Given the description of an element on the screen output the (x, y) to click on. 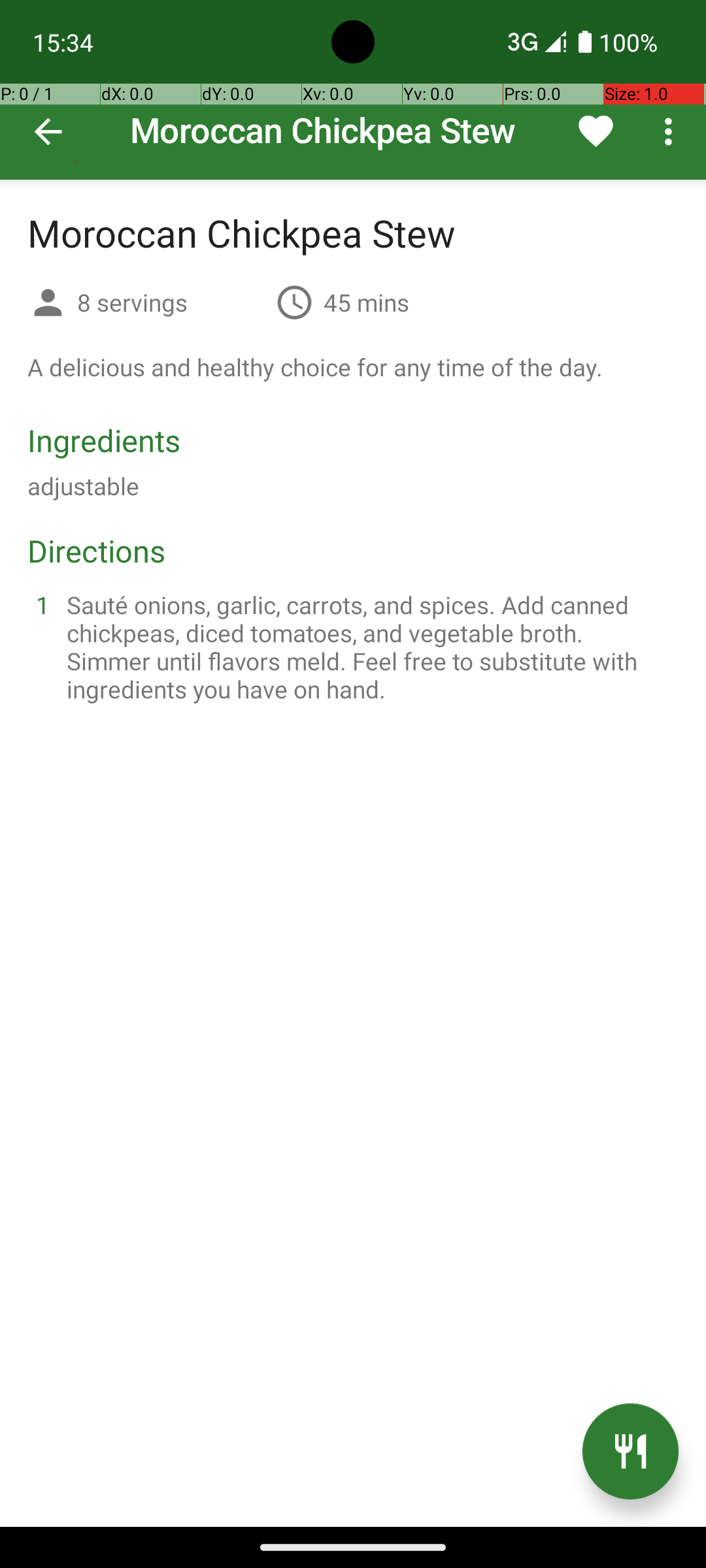
Moroccan Chickpea Stew Element type: android.widget.FrameLayout (353, 89)
Cook Element type: android.widget.ImageButton (630, 1451)
Remove from favorites Element type: android.widget.Button (595, 131)
Servings Element type: android.widget.ImageView (47, 303)
8 servings Element type: android.widget.TextView (170, 301)
45 mins Element type: android.widget.TextView (366, 301)
A delicious and healthy choice for any time of the day. Element type: android.widget.TextView (314, 366)
adjustable Element type: android.widget.TextView (83, 485)
Directions Element type: android.widget.TextView (96, 550)
Sauté onions, garlic, carrots, and spices. Add canned chickpeas, diced tomatoes, and vegetable broth. Simmer until flavors meld. Feel free to substitute with ingredients you have on hand. Element type: android.widget.TextView (368, 646)
